Given the description of an element on the screen output the (x, y) to click on. 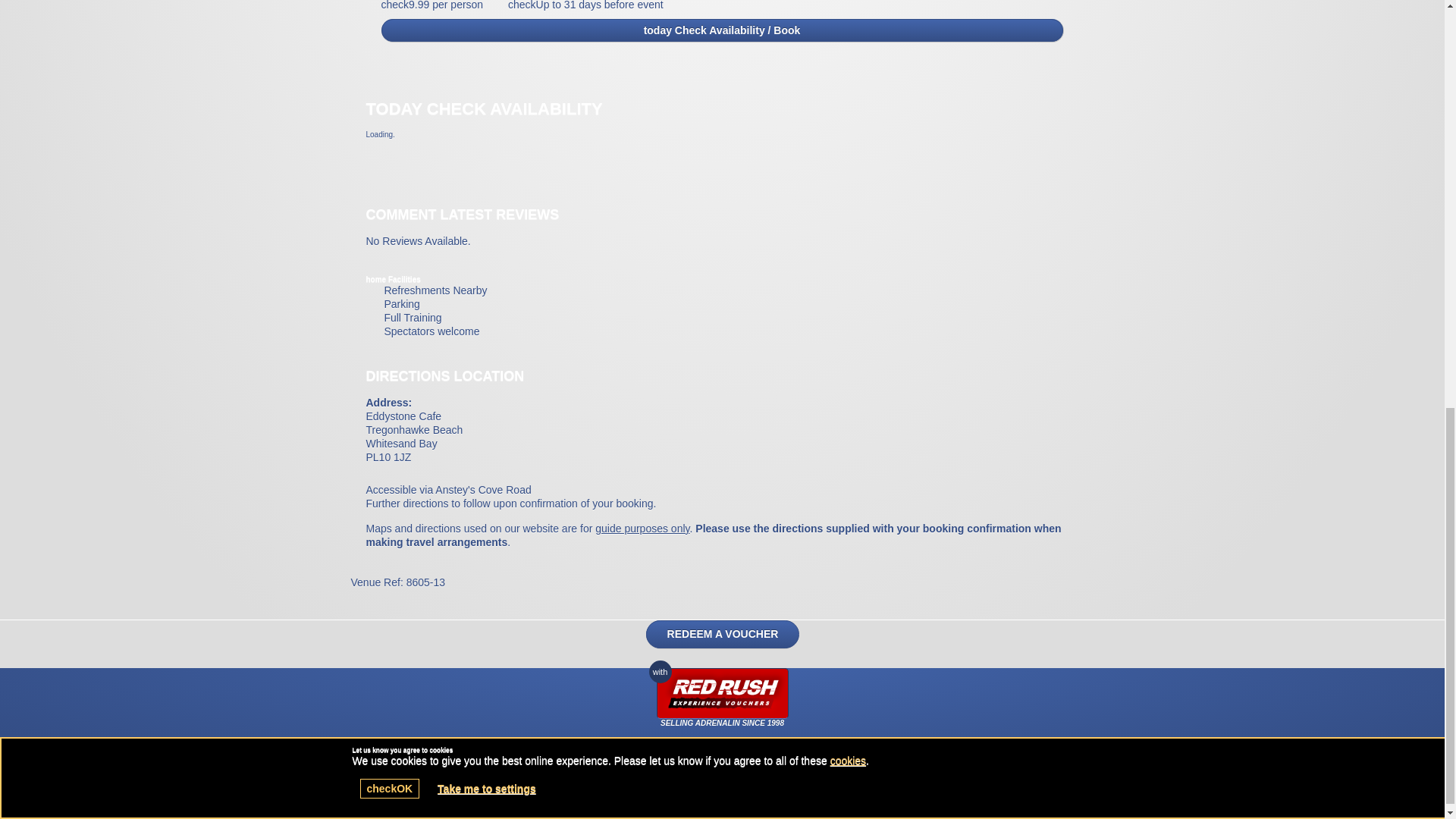
Red Rush Vouchers (722, 693)
REDEEM A VOUCHER (722, 633)
